Given the description of an element on the screen output the (x, y) to click on. 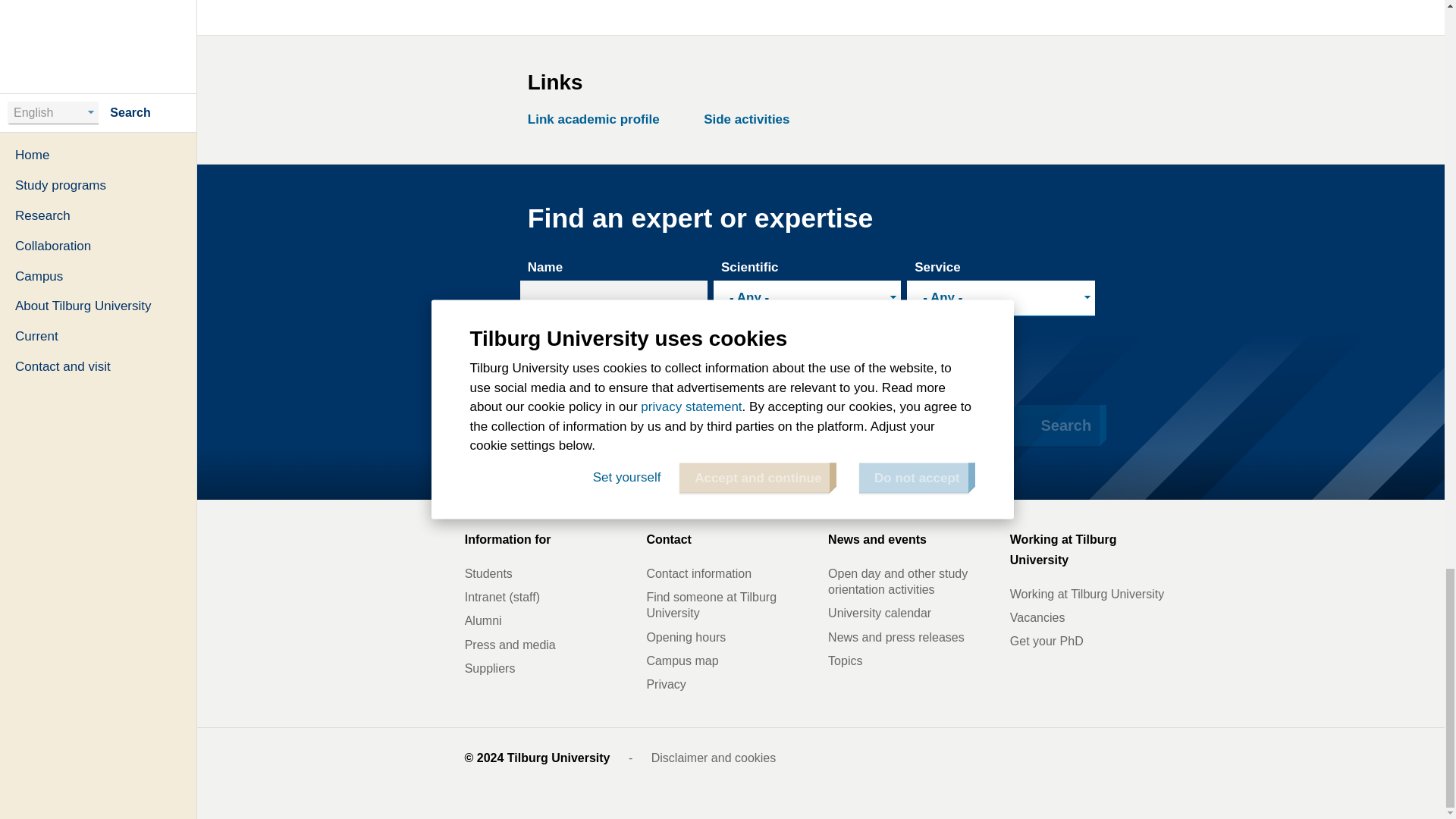
Contact (729, 539)
Flickr (1127, 757)
Press and media (547, 644)
Facebook (1060, 757)
- Any - (997, 297)
YouTube (1025, 757)
- Any - (804, 367)
Find someone at Tilburg University (729, 604)
Link academic profile (598, 119)
Search (1048, 425)
Suppliers (547, 668)
Instagram (1161, 757)
Open day and other study orientation activities (911, 581)
Privacy (729, 684)
LinkedIn (991, 757)
